Given the description of an element on the screen output the (x, y) to click on. 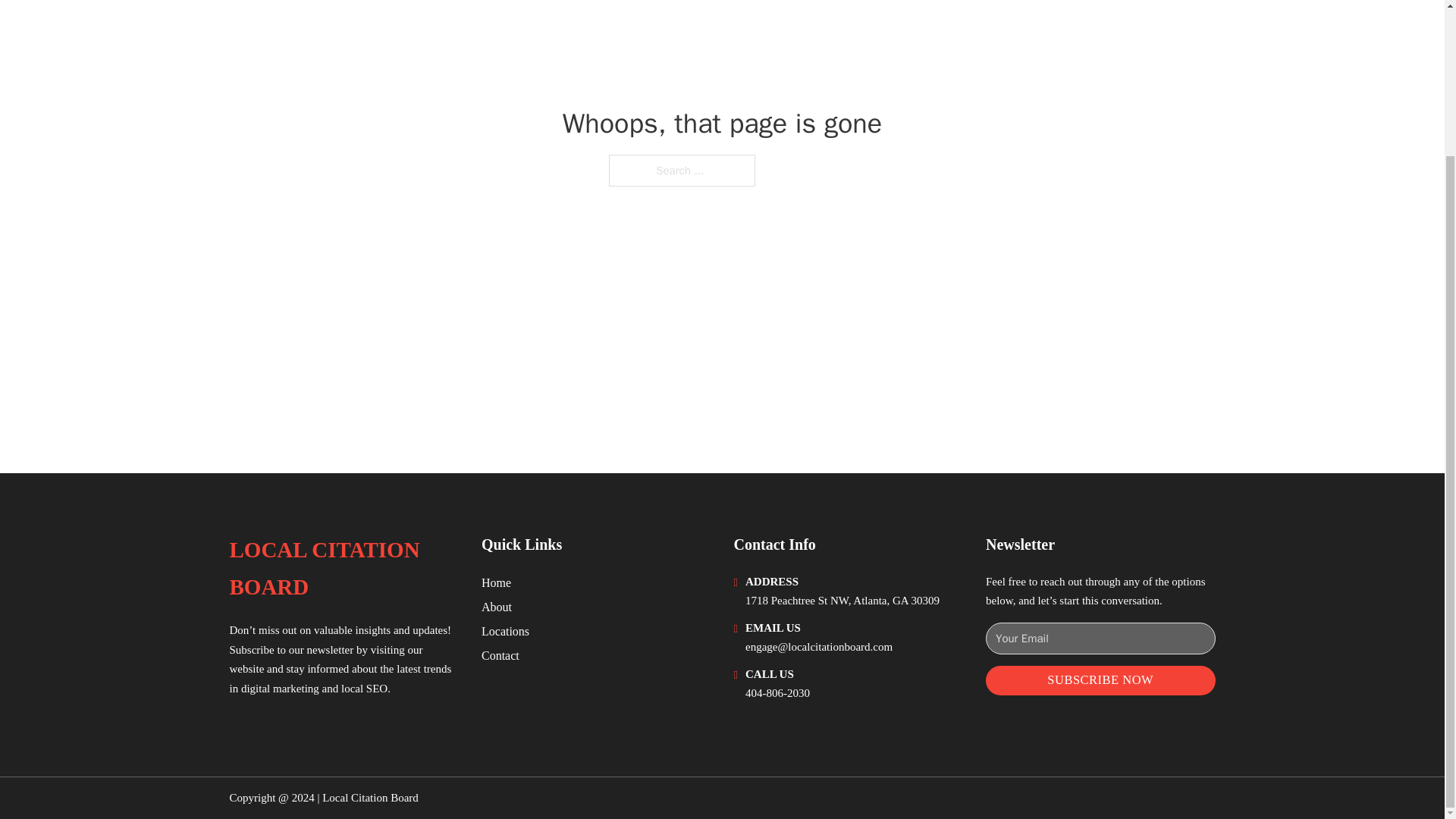
LOCAL CITATION BOARD (343, 568)
404-806-2030 (777, 693)
SUBSCRIBE NOW (1100, 680)
About (496, 607)
Contact (500, 655)
Home (496, 582)
Locations (505, 630)
